Given the description of an element on the screen output the (x, y) to click on. 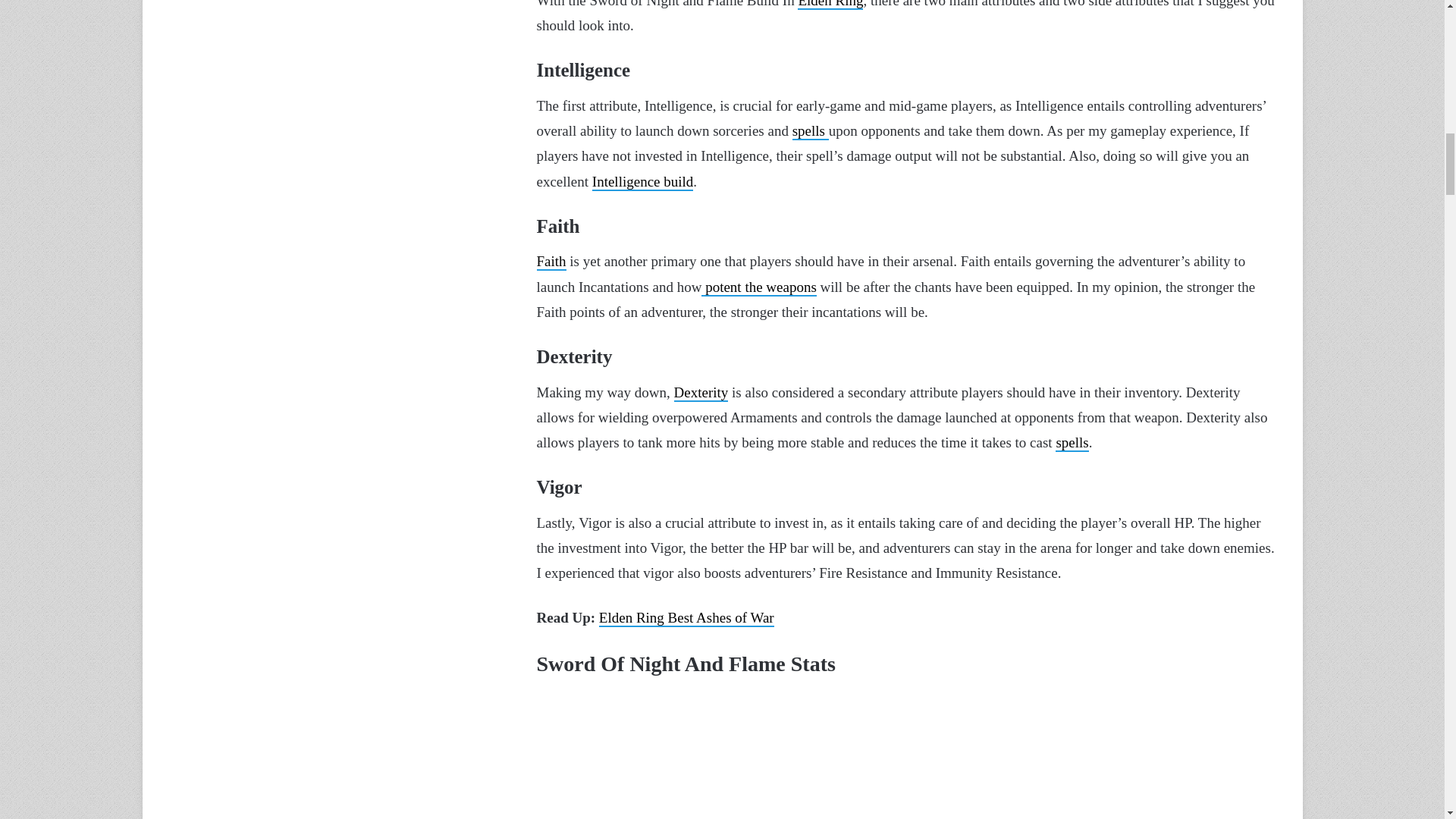
Dexterity (701, 393)
Elden Ring (830, 4)
spells (1071, 443)
Faith (551, 262)
